Given the description of an element on the screen output the (x, y) to click on. 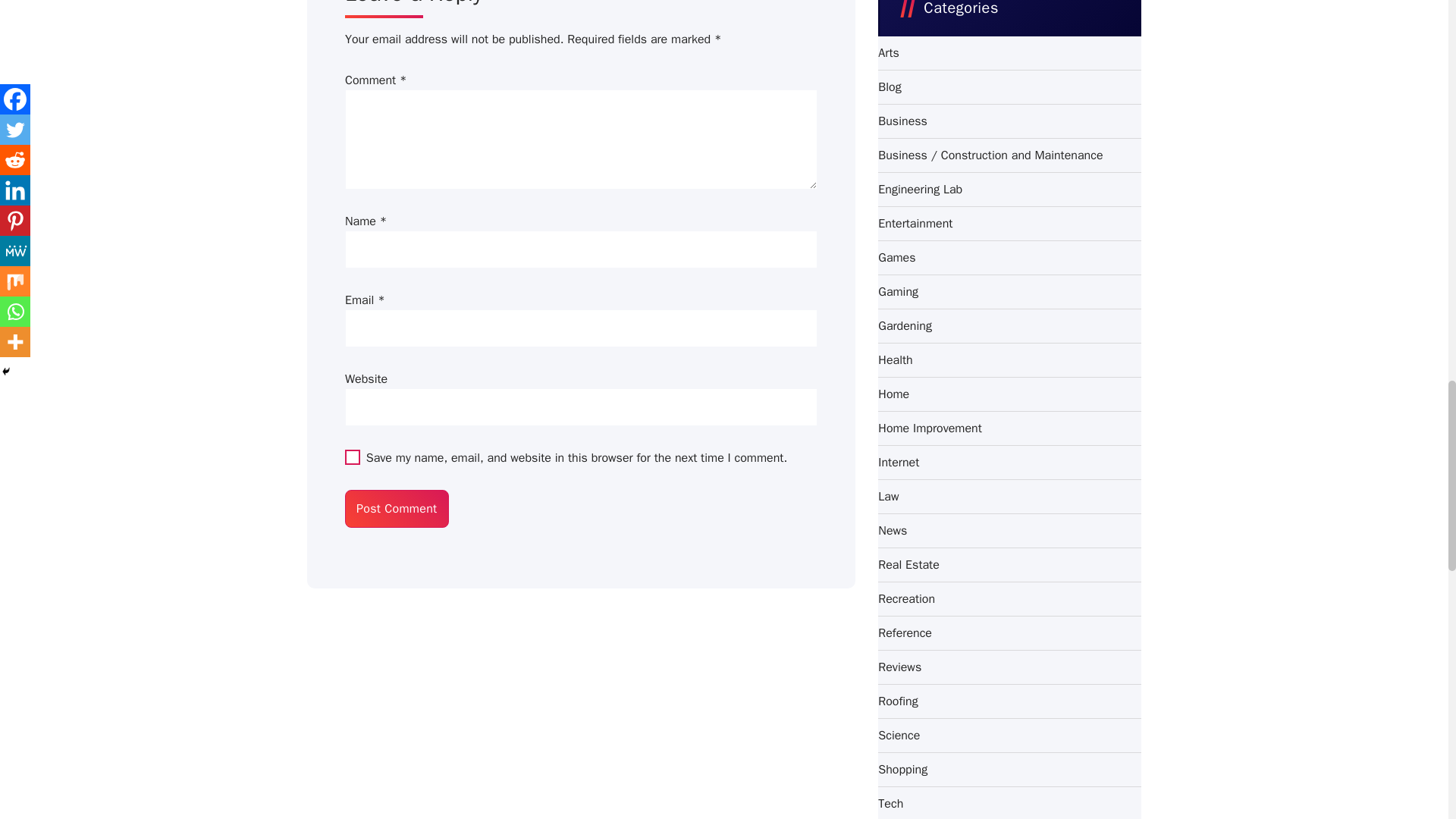
yes (352, 457)
Post Comment (396, 508)
